Given the description of an element on the screen output the (x, y) to click on. 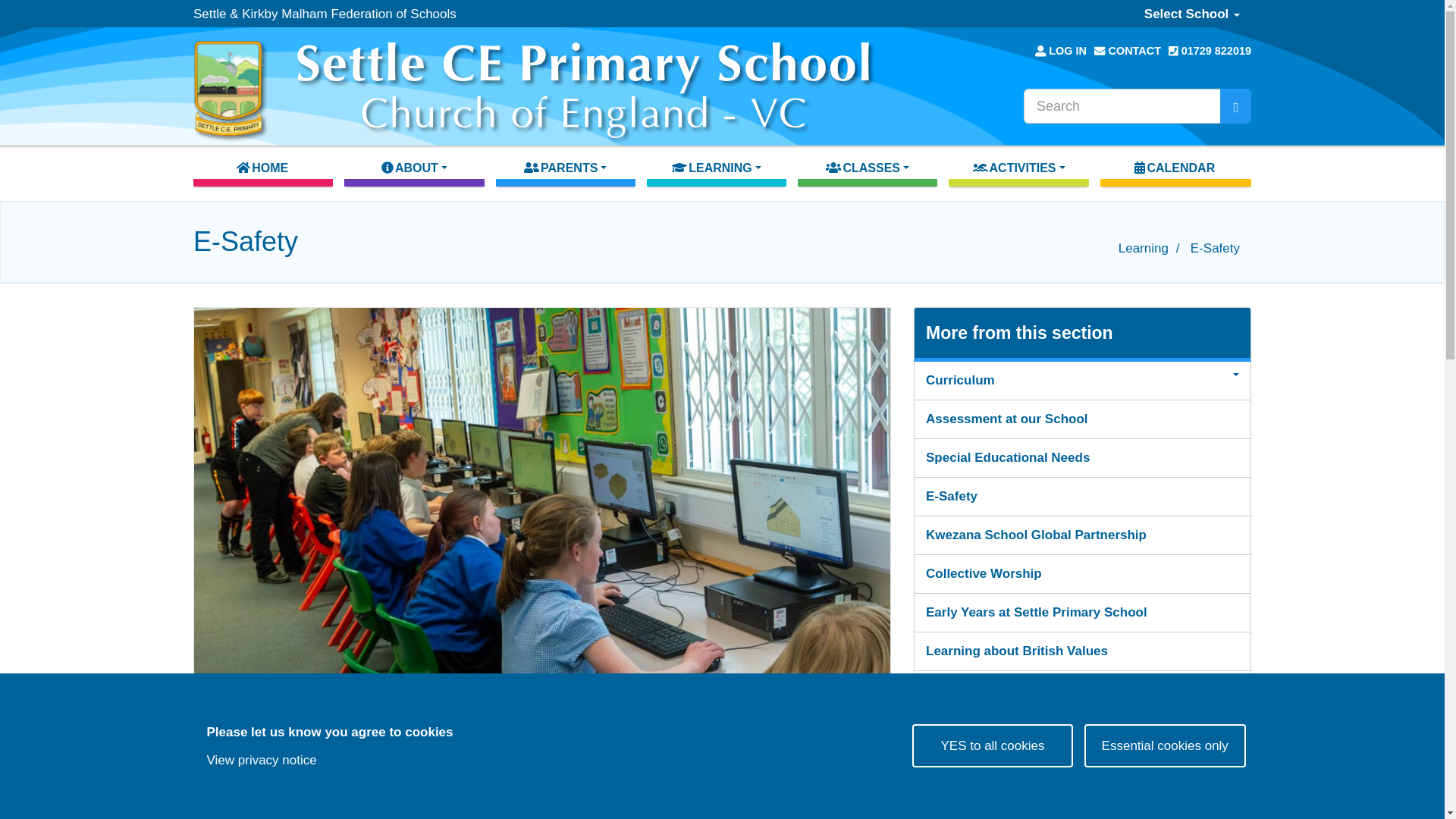
Enter the terms you wish to search for. (1122, 105)
HOME (263, 171)
PARENTS (565, 171)
Search (1235, 105)
YES to all cookies (993, 745)
Select School (1191, 13)
Home (534, 84)
01729 822019 (1209, 50)
Essential cookies only (1165, 745)
View privacy notice (260, 759)
ABOUT (413, 171)
LOG IN (1060, 50)
CONTACT (1127, 50)
